Given the description of an element on the screen output the (x, y) to click on. 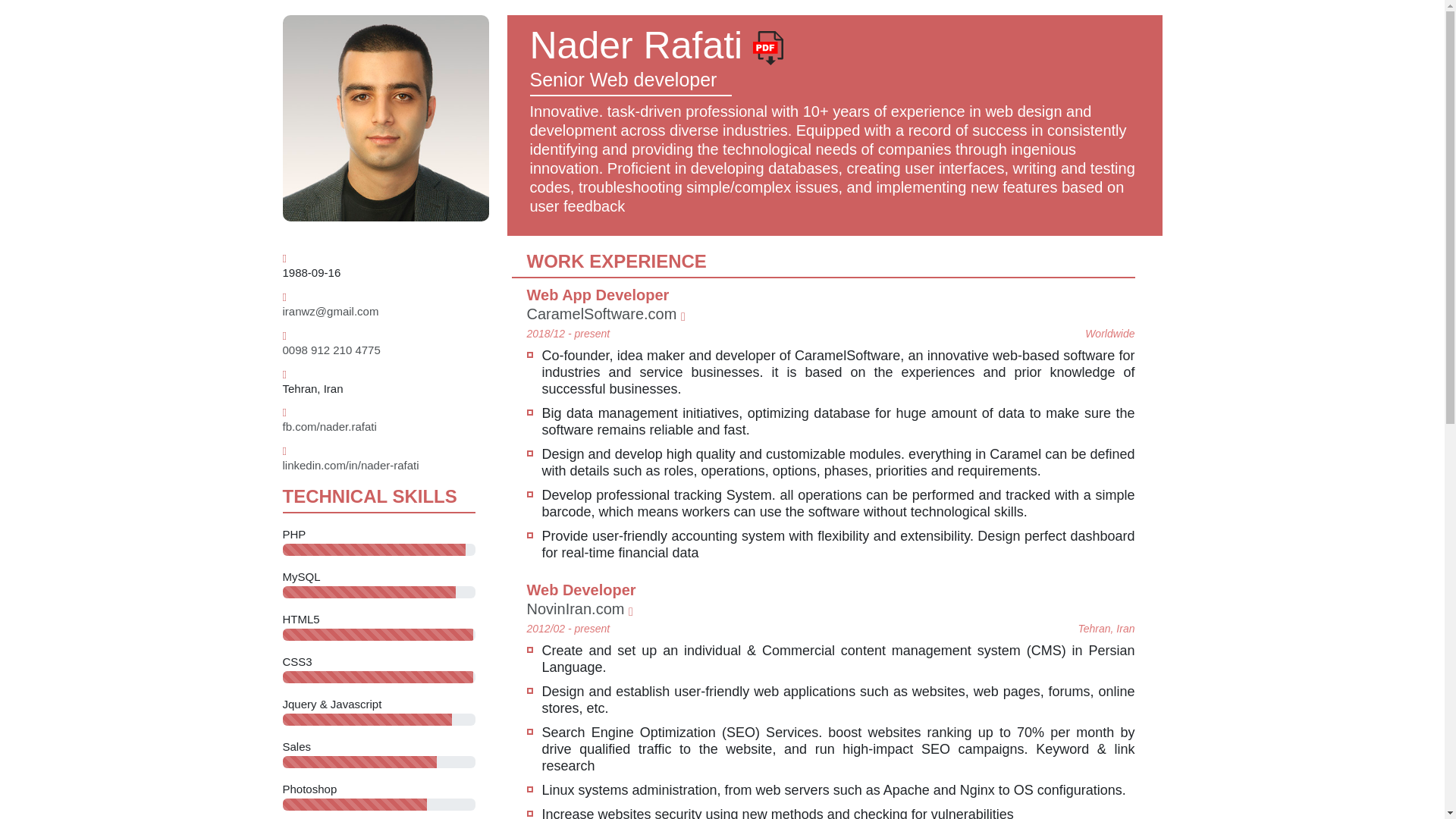
Email (330, 310)
NovinIran.com (578, 608)
Facebook account (328, 426)
CaramelSoftware.com (604, 313)
NovinIran (578, 608)
0098 912 210 4775 (331, 349)
Linkedin account (350, 464)
Mobile (331, 349)
caramel (604, 313)
